Given the description of an element on the screen output the (x, y) to click on. 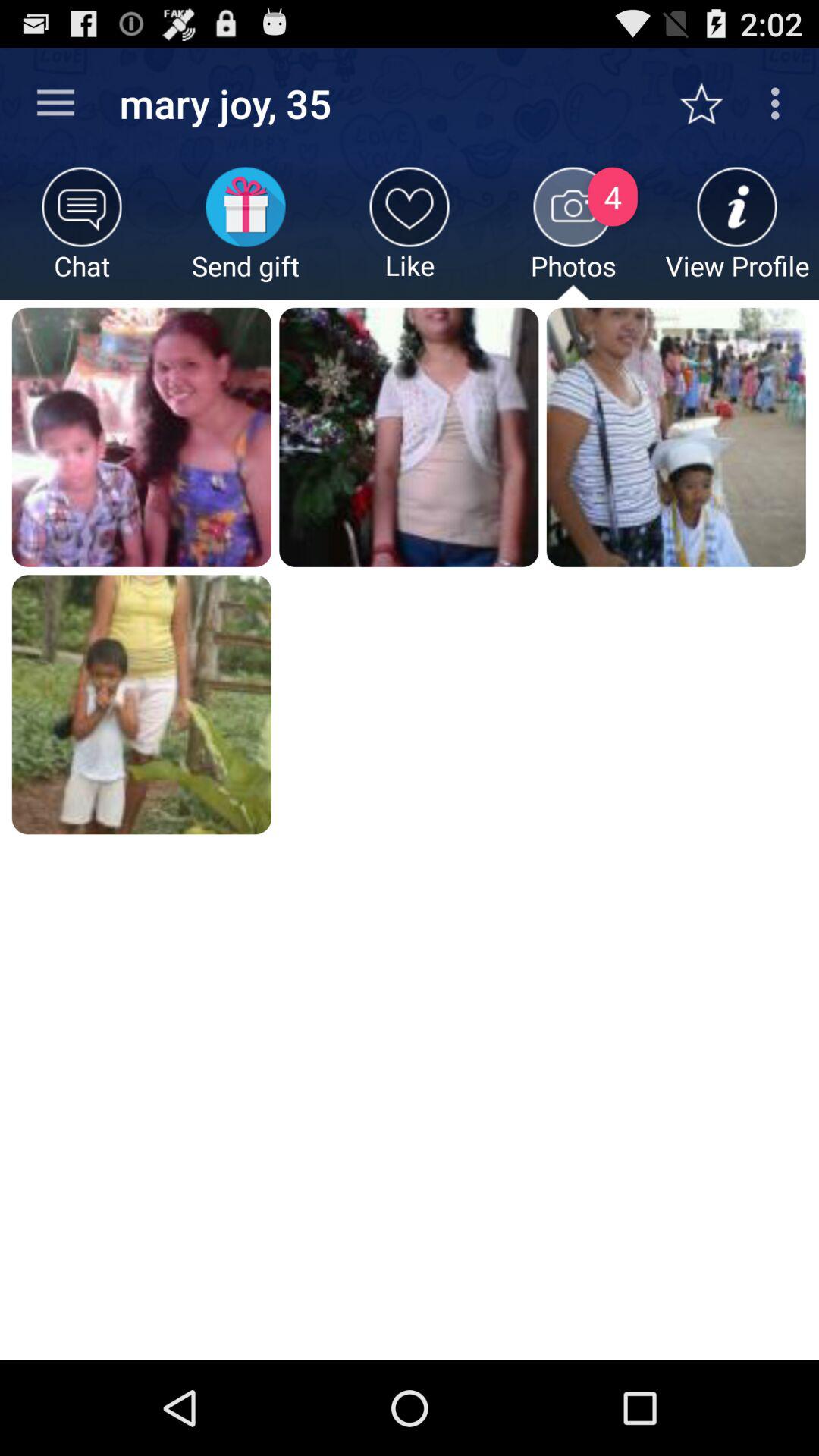
tap the icon to the right of photos icon (737, 233)
